Given the description of an element on the screen output the (x, y) to click on. 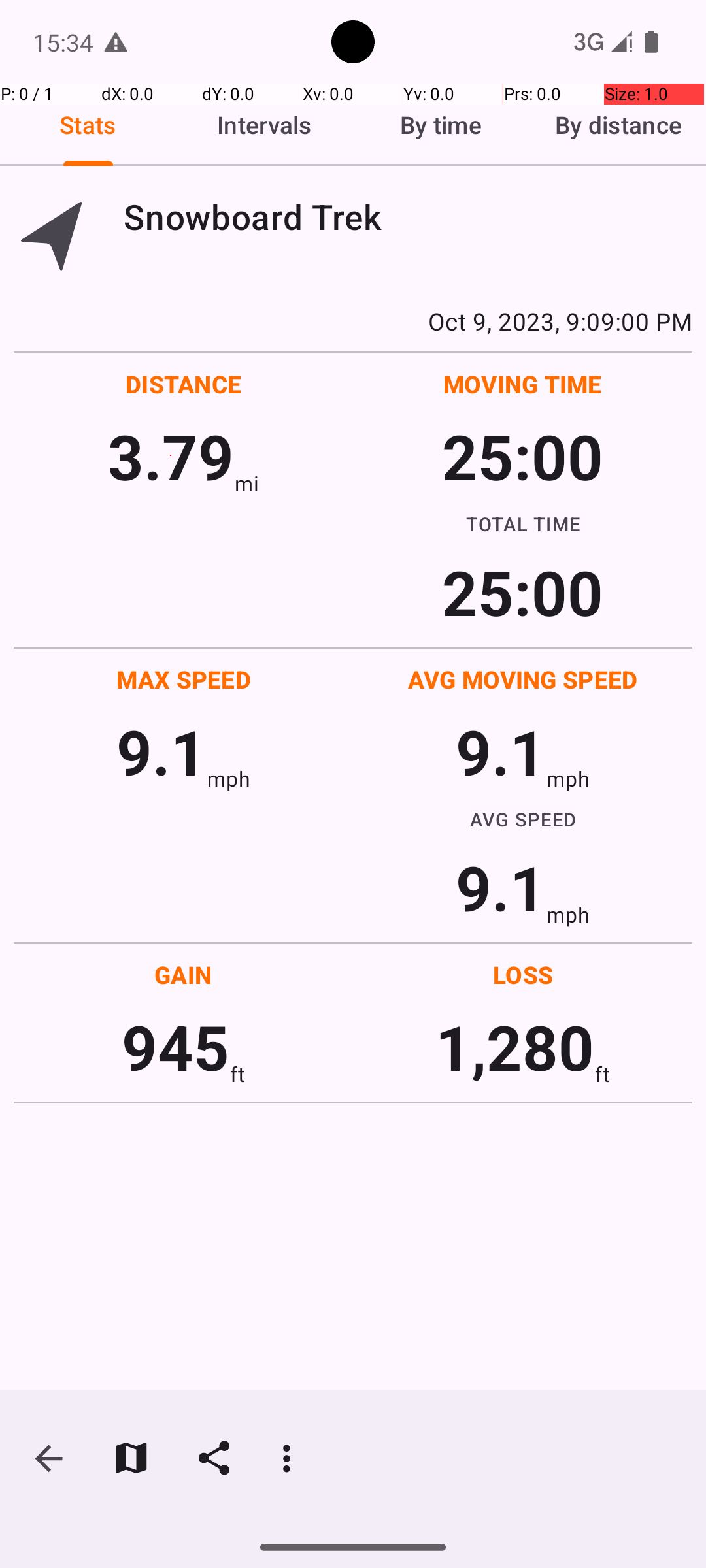
Stats Element type: android.widget.LinearLayout (88, 124)
Intervals Element type: android.widget.LinearLayout (264, 124)
By time Element type: android.widget.LinearLayout (441, 124)
By distance Element type: android.widget.LinearLayout (617, 124)
Show on map Element type: android.widget.Button (130, 1458)
Snowboard Trek Element type: android.widget.TextView (407, 216)
Oct 9, 2023, 9:09:00 PM Element type: android.widget.TextView (352, 320)
DISTANCE Element type: android.widget.TextView (183, 383)
MOVING TIME Element type: android.widget.TextView (522, 383)
3.79 Element type: android.widget.TextView (170, 455)
mi Element type: android.widget.TextView (246, 483)
25:00 Element type: android.widget.TextView (522, 455)
TOTAL TIME Element type: android.widget.TextView (522, 523)
MAX SPEED Element type: android.widget.TextView (183, 678)
AVG MOVING SPEED Element type: android.widget.TextView (522, 678)
9.1 Element type: android.widget.TextView (161, 750)
mph Element type: android.widget.TextView (228, 778)
AVG SPEED Element type: android.widget.TextView (522, 818)
GAIN Element type: android.widget.TextView (183, 974)
LOSS Element type: android.widget.TextView (522, 974)
945 Element type: android.widget.TextView (175, 1045)
ft Element type: android.widget.TextView (237, 1073)
1,280 Element type: android.widget.TextView (514, 1045)
